Given the description of an element on the screen output the (x, y) to click on. 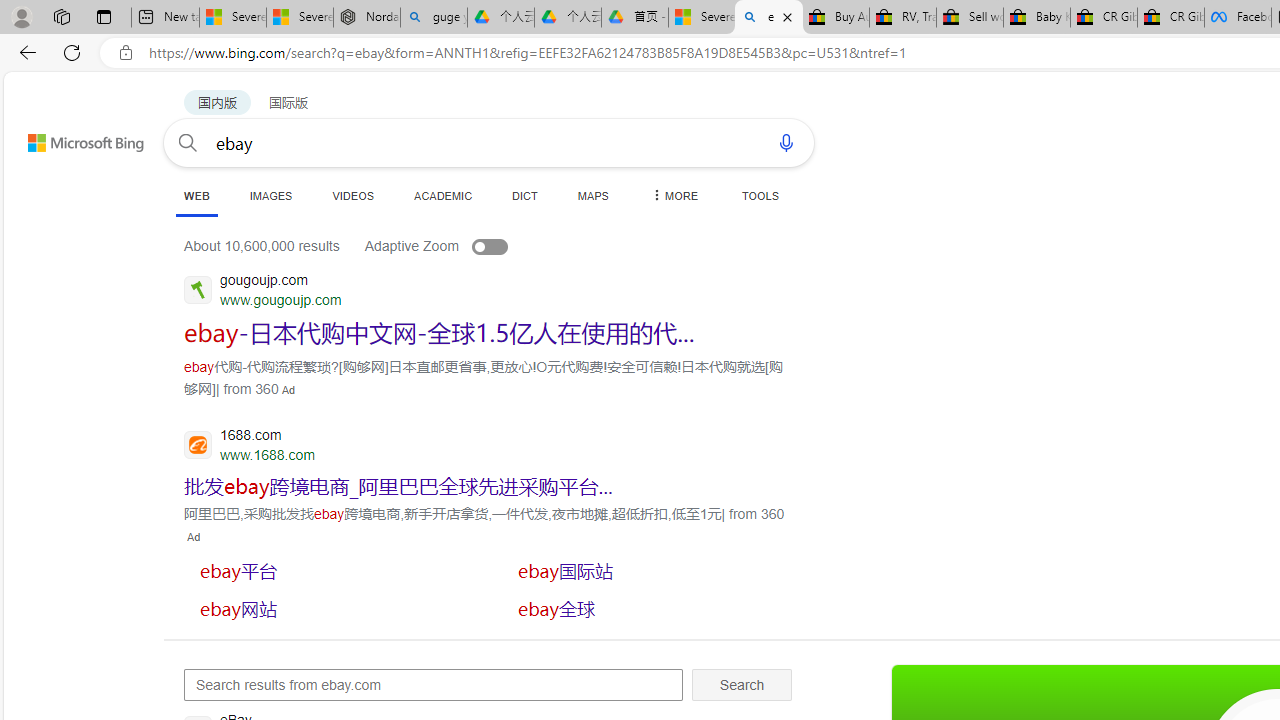
ACADEMIC (443, 195)
MAPS (592, 195)
TOOLS (760, 195)
SERP,5710 (398, 485)
WEB (196, 195)
